Given the description of an element on the screen output the (x, y) to click on. 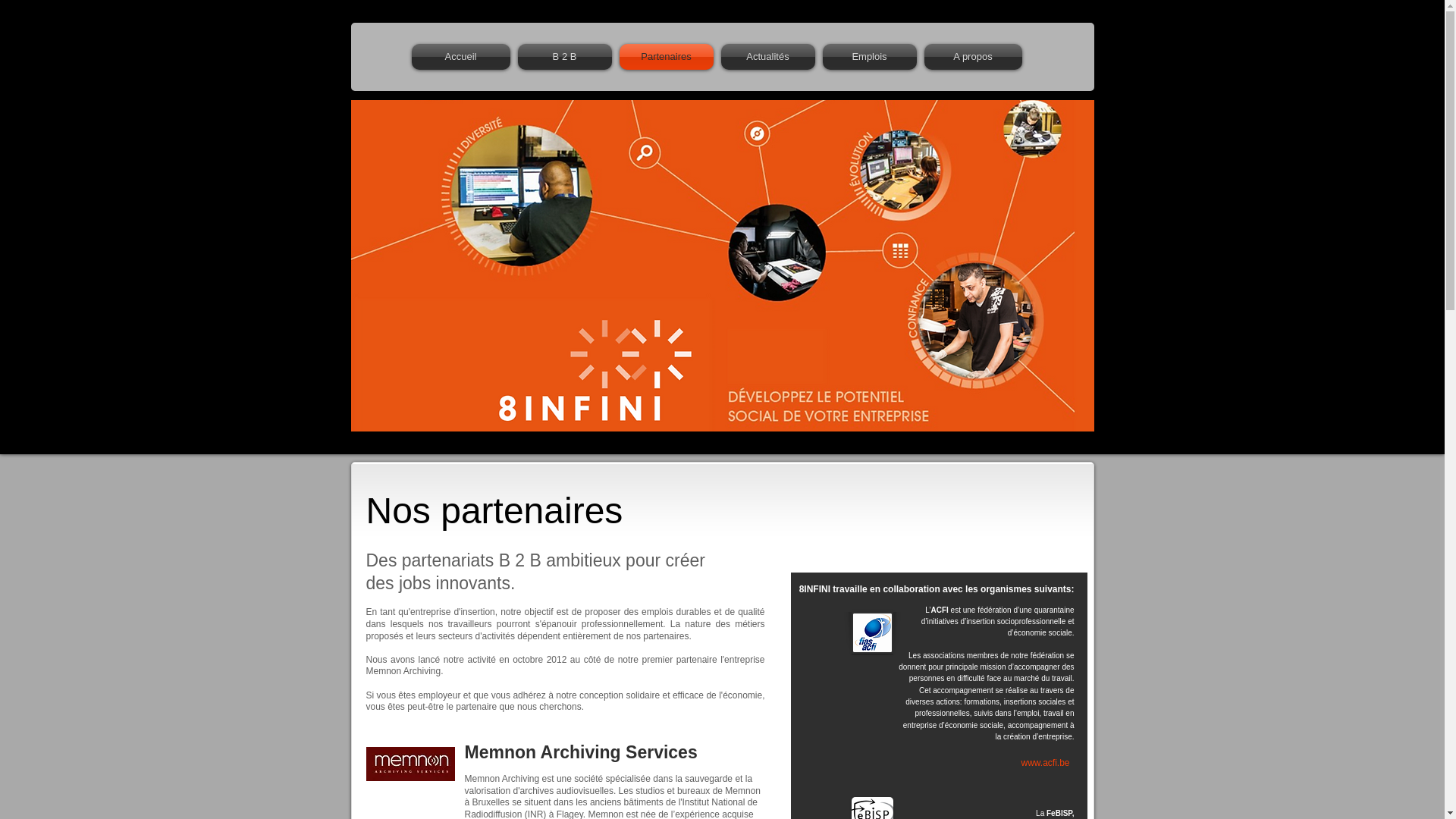
MEMNON ARCHIVING SERVICES logo Element type: hover (409, 763)
Partenaires Element type: text (666, 56)
www.acfi.be Element type: text (1045, 763)
Accueil Element type: text (462, 56)
B 2 B Element type: text (564, 56)
Emplois Element type: text (869, 56)
ACFI logo Element type: hover (871, 632)
A propos Element type: text (971, 56)
